Given the description of an element on the screen output the (x, y) to click on. 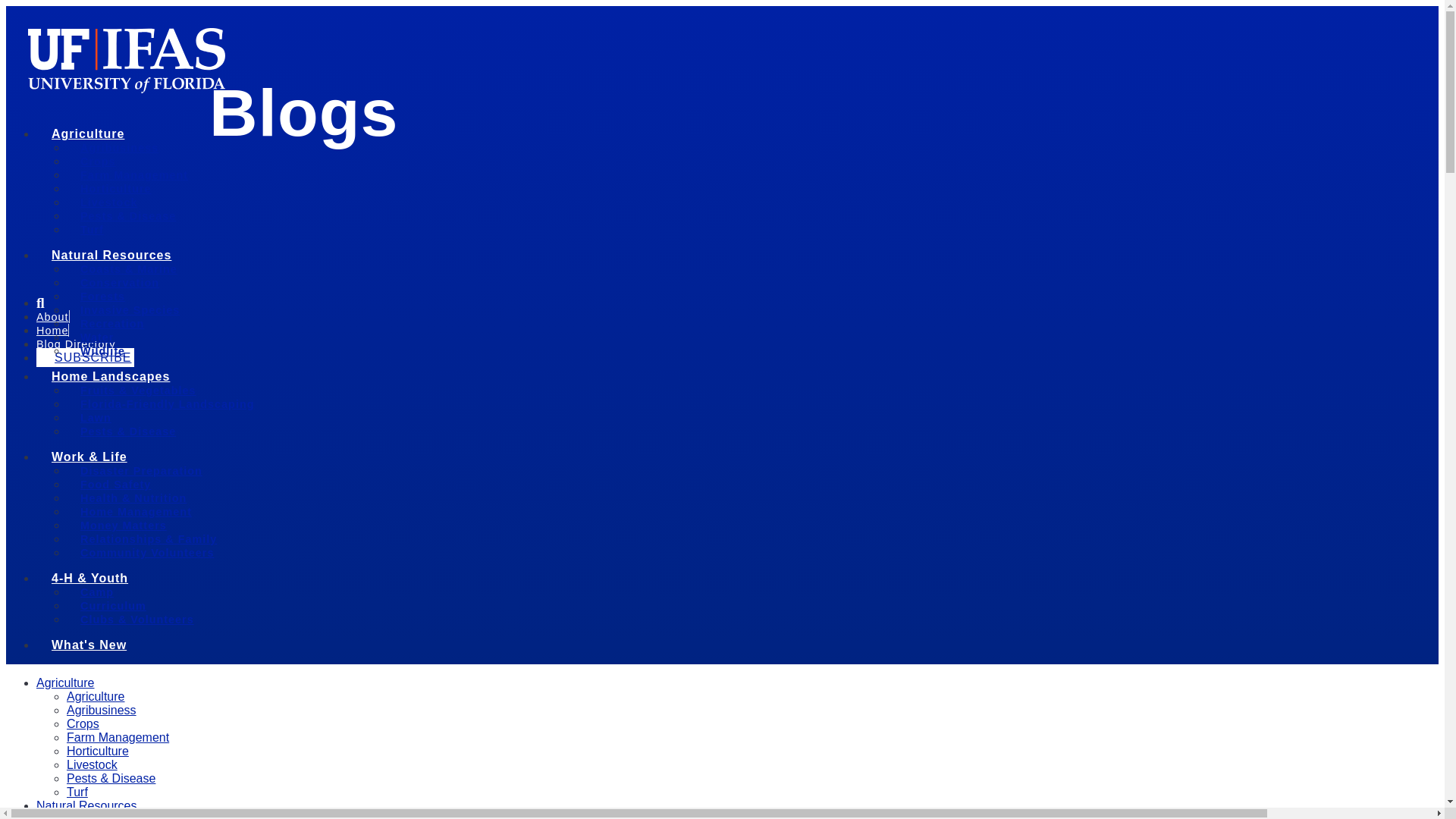
Turf (91, 230)
Farm Management (133, 175)
Money Matters (123, 526)
Community Volunteers (147, 554)
Agribusiness (119, 148)
Disaster Preparation (141, 472)
Invasive Species (129, 310)
Blogs (303, 112)
Home Management (136, 513)
Conservation (119, 283)
